Given the description of an element on the screen output the (x, y) to click on. 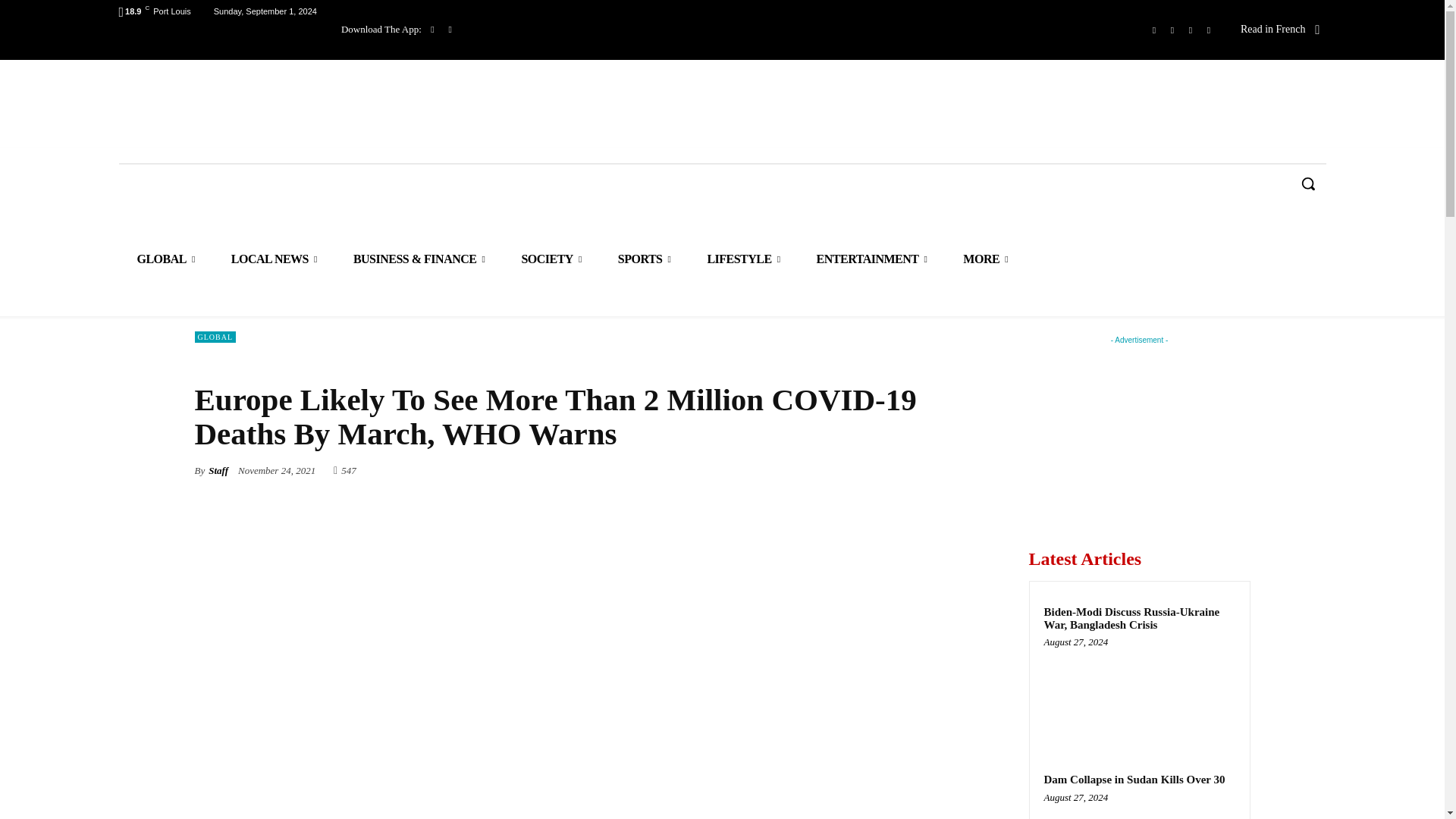
Twitter (1189, 30)
Instagram (1171, 30)
Youtube (1208, 30)
Facebook (1153, 30)
